Given the description of an element on the screen output the (x, y) to click on. 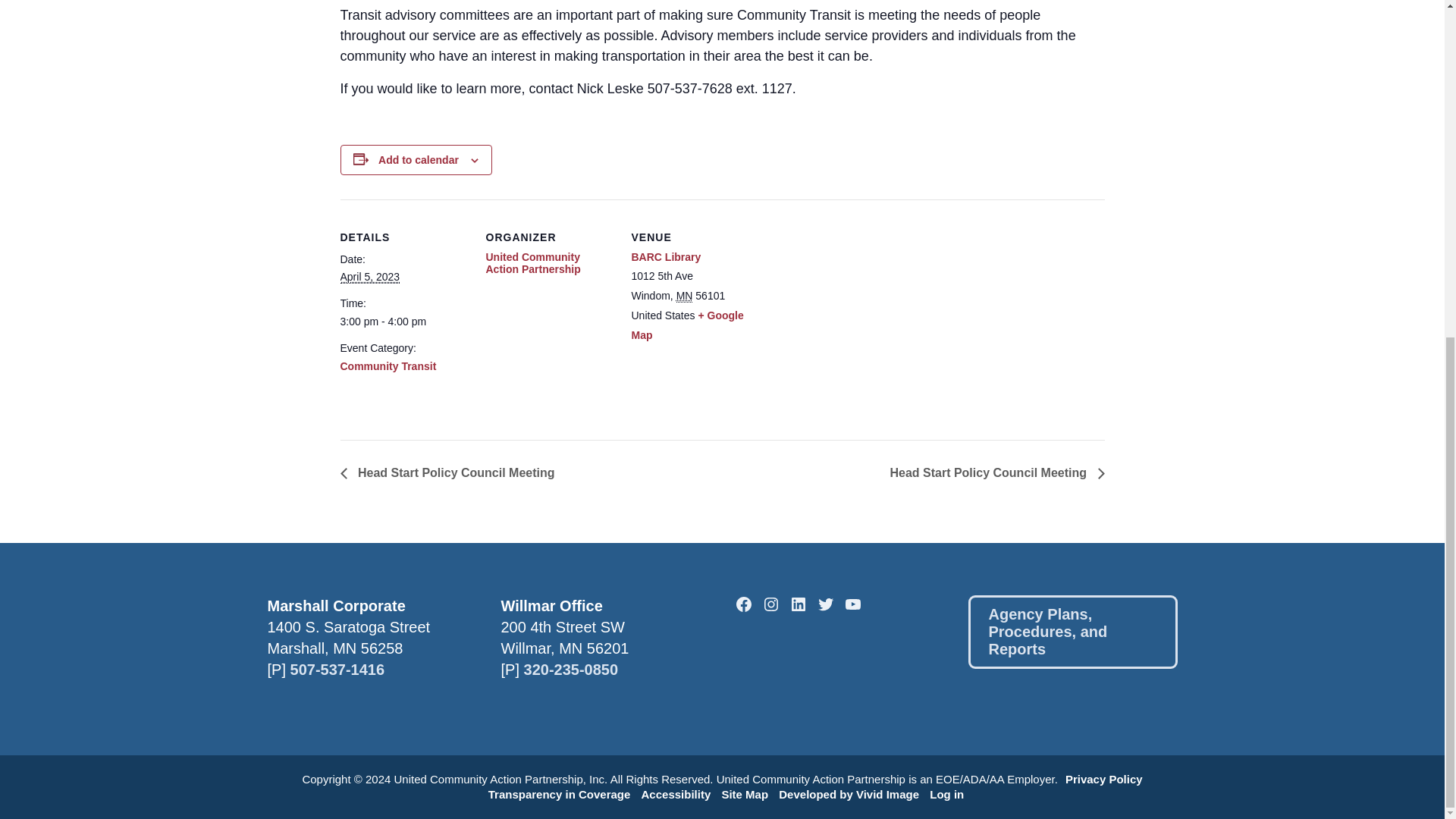
2023-04-05 (403, 321)
United Community Action Partnership (531, 262)
Minnesota (685, 295)
2023-04-05 (368, 277)
Click to view a Google Map (686, 325)
